Given the description of an element on the screen output the (x, y) to click on. 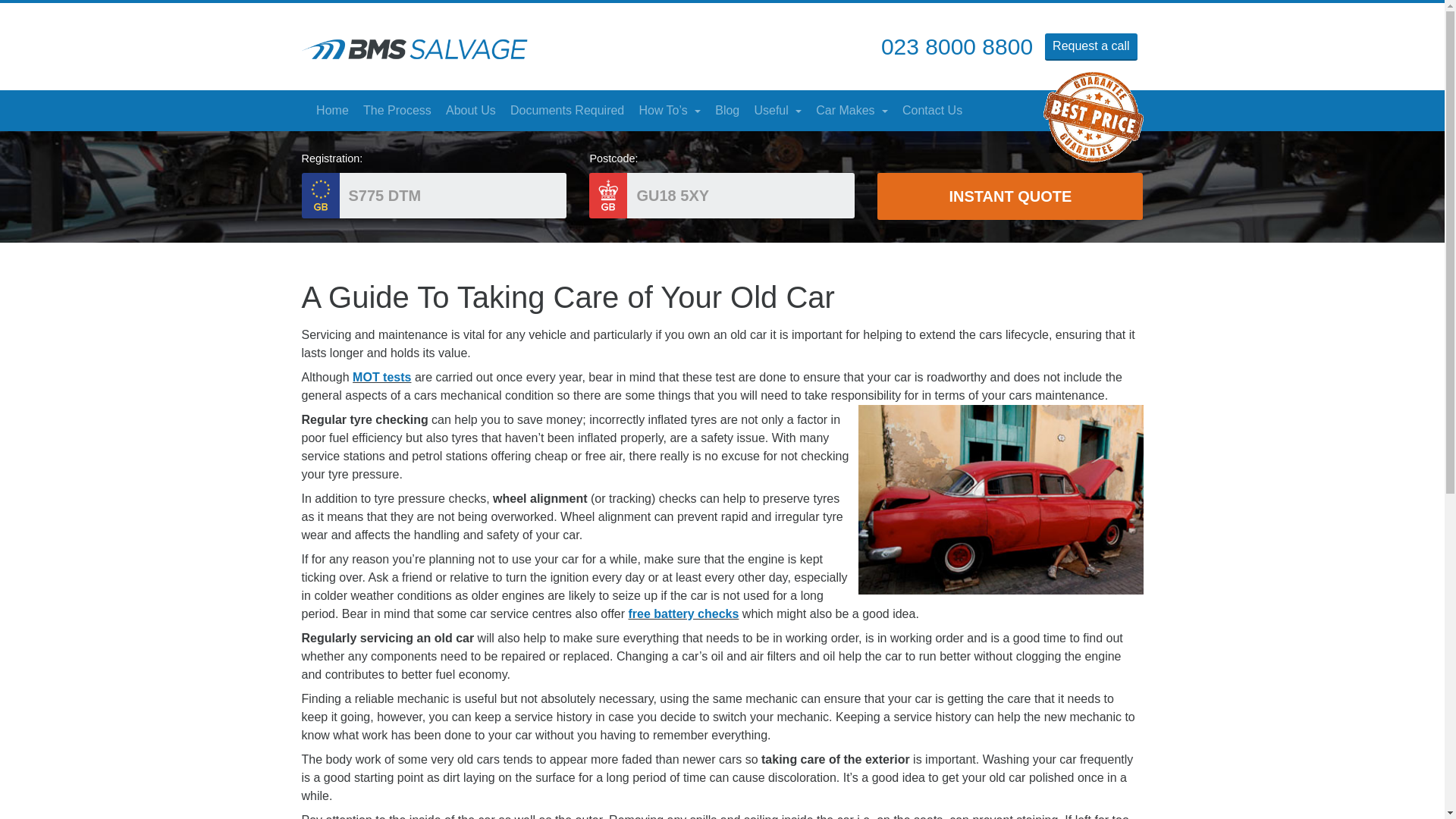
About Us (470, 110)
Home (332, 110)
Car Makes (852, 110)
How To's (669, 110)
Useful (777, 110)
Documents Required (566, 110)
Home (332, 110)
About Us (470, 110)
Documents Required (566, 110)
Contact Us (932, 110)
